Given the description of an element on the screen output the (x, y) to click on. 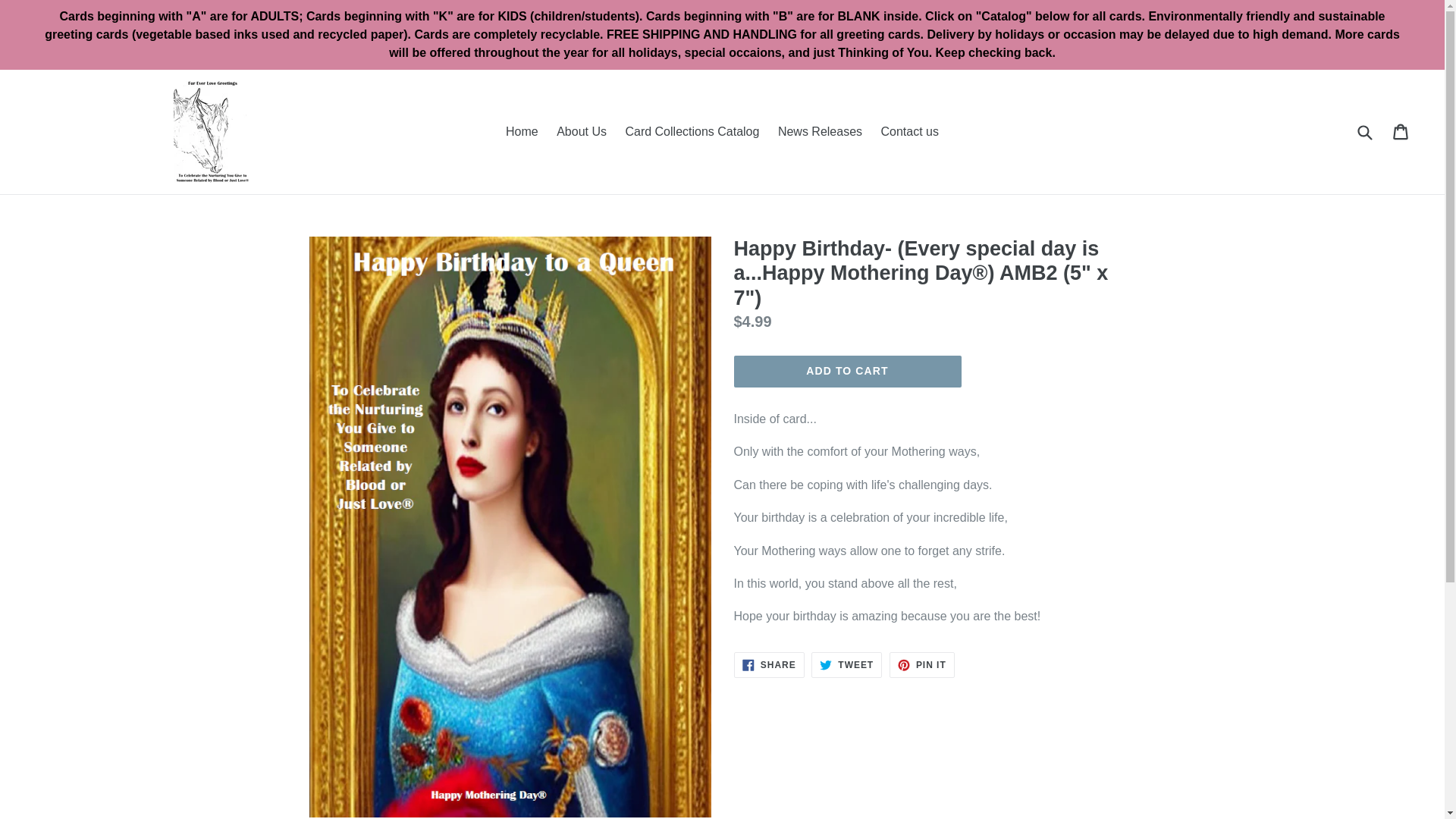
Contact us (908, 131)
Home (846, 664)
Share on Facebook (521, 131)
About Us (769, 664)
Card Collections Catalog (581, 131)
Tweet on Twitter (692, 131)
ADD TO CART (922, 664)
